Given the description of an element on the screen output the (x, y) to click on. 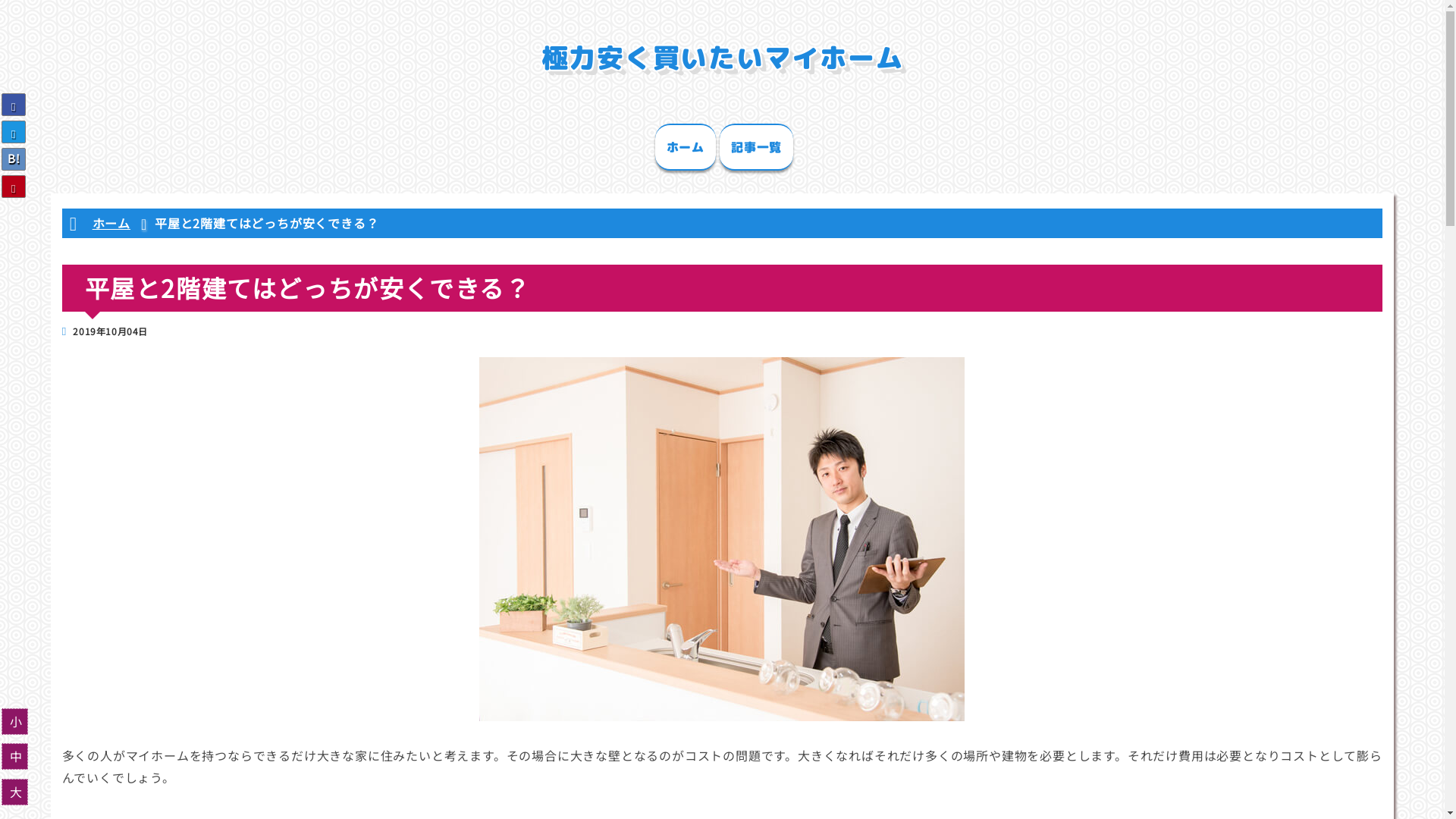
B! Element type: text (13, 158)
